Given the description of an element on the screen output the (x, y) to click on. 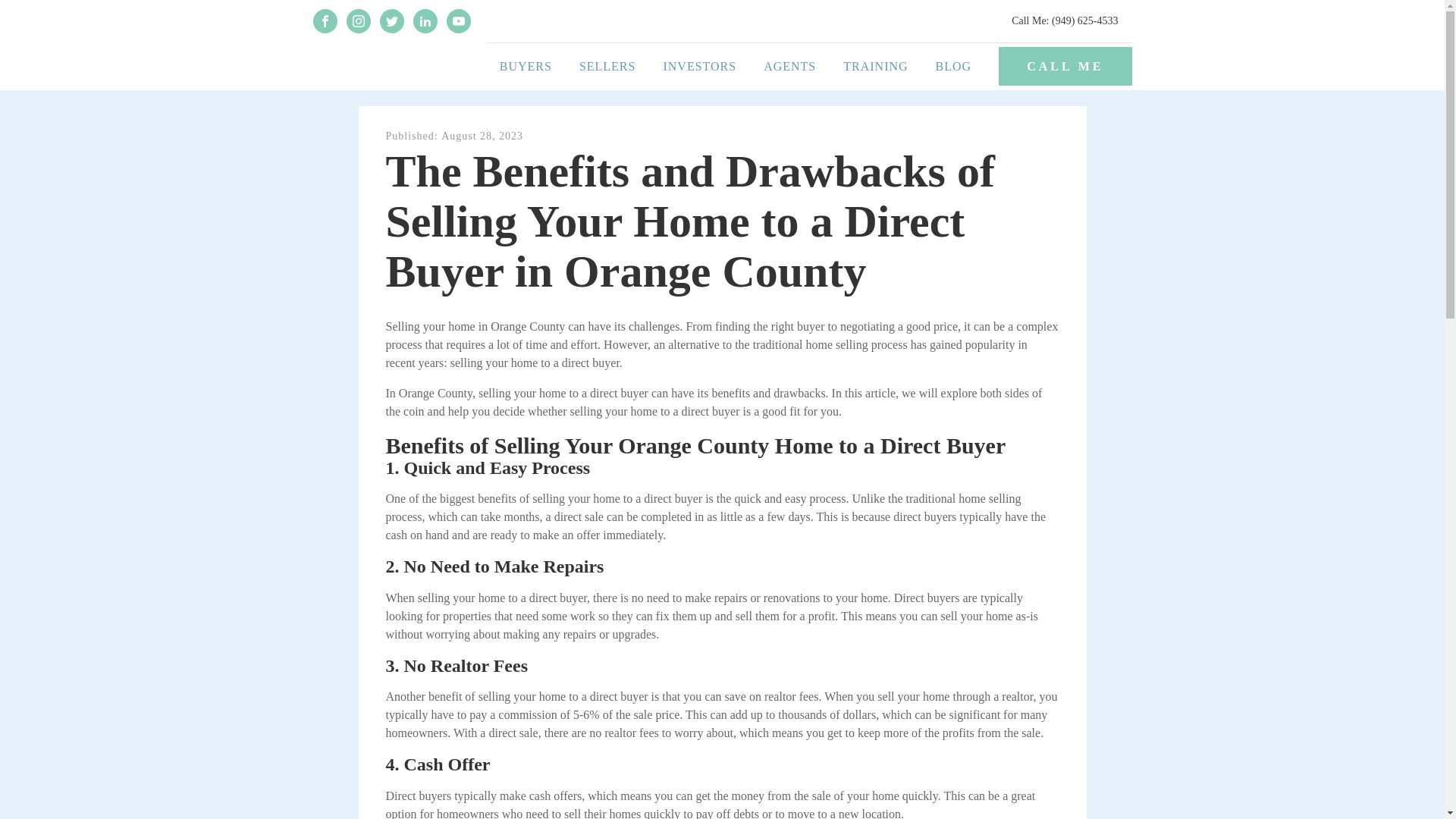
SELLERS (607, 66)
BLOG (953, 66)
BUYERS (526, 66)
TRAINING (875, 66)
AGENTS (789, 66)
CALL ME (1064, 65)
INVESTORS (699, 66)
